Given the description of an element on the screen output the (x, y) to click on. 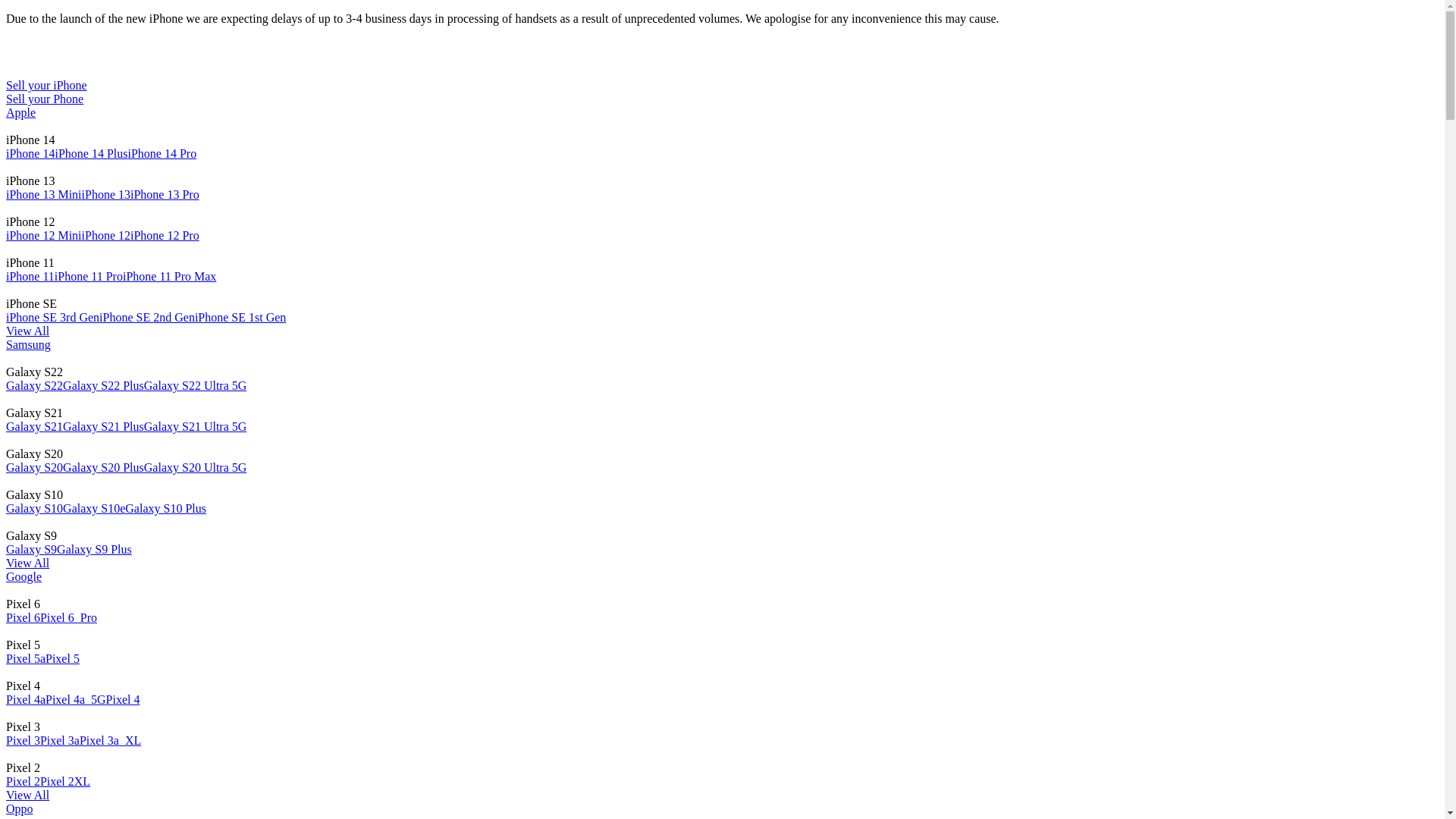
Pixel 3 Element type: text (23, 740)
Samsung Element type: text (28, 344)
iPhone 11 Element type: text (30, 275)
Oppo Element type: text (19, 808)
Galaxy S21 Plus Element type: text (103, 426)
Apple Element type: text (20, 112)
Pixel 2XL Element type: text (65, 781)
Galaxy S20 Plus Element type: text (103, 467)
Pixel 4a  5G Element type: text (75, 699)
Pixel 2 Element type: text (23, 781)
iPhone 12 Element type: text (105, 235)
iPhone 14 Element type: text (30, 153)
iPhone SE 2nd Gen Element type: text (146, 316)
iPhone SE 1st Gen Element type: text (239, 316)
View All Element type: text (27, 794)
Galaxy S22 Plus Element type: text (103, 385)
iPhone 11 Pro Max Element type: text (169, 275)
iPhone 14 Plus Element type: text (90, 153)
Pixel 6  Pro Element type: text (68, 617)
View All Element type: text (27, 330)
Galaxy S10 Plus Element type: text (165, 508)
Pixel 3a  XL Element type: text (110, 740)
Galaxy S20 Element type: text (34, 467)
iPhone 12 Pro Element type: text (164, 235)
Pixel 5 Element type: text (62, 658)
Google Element type: text (23, 576)
Galaxy S22 Element type: text (34, 385)
Pixel 6 Element type: text (23, 617)
iPhone SE 3rd Gen Element type: text (52, 316)
Pixel 5a Element type: text (25, 658)
iPhone 13 Mini Element type: text (43, 194)
iPhone 13 Element type: text (105, 194)
Sell your Phone Element type: text (722, 99)
Galaxy S21 Ultra 5G Element type: text (195, 426)
iPhone 11 Pro Element type: text (88, 275)
Galaxy S21 Element type: text (34, 426)
iPhone 13 Pro Element type: text (164, 194)
Pixel 3a Element type: text (59, 740)
Galaxy S9 Plus Element type: text (93, 548)
Galaxy S20 Ultra 5G Element type: text (195, 467)
Galaxy S22 Ultra 5G Element type: text (195, 385)
View All Element type: text (27, 562)
iPhone 14 Pro Element type: text (161, 153)
Galaxy S10 Element type: text (34, 508)
iPhone 12 Mini Element type: text (43, 235)
Pixel 4a Element type: text (25, 699)
Galaxy S10e Element type: text (93, 508)
Pixel 4 Element type: text (123, 699)
Sell your iPhone Element type: text (46, 84)
Galaxy S9 Element type: text (31, 548)
